Given the description of an element on the screen output the (x, y) to click on. 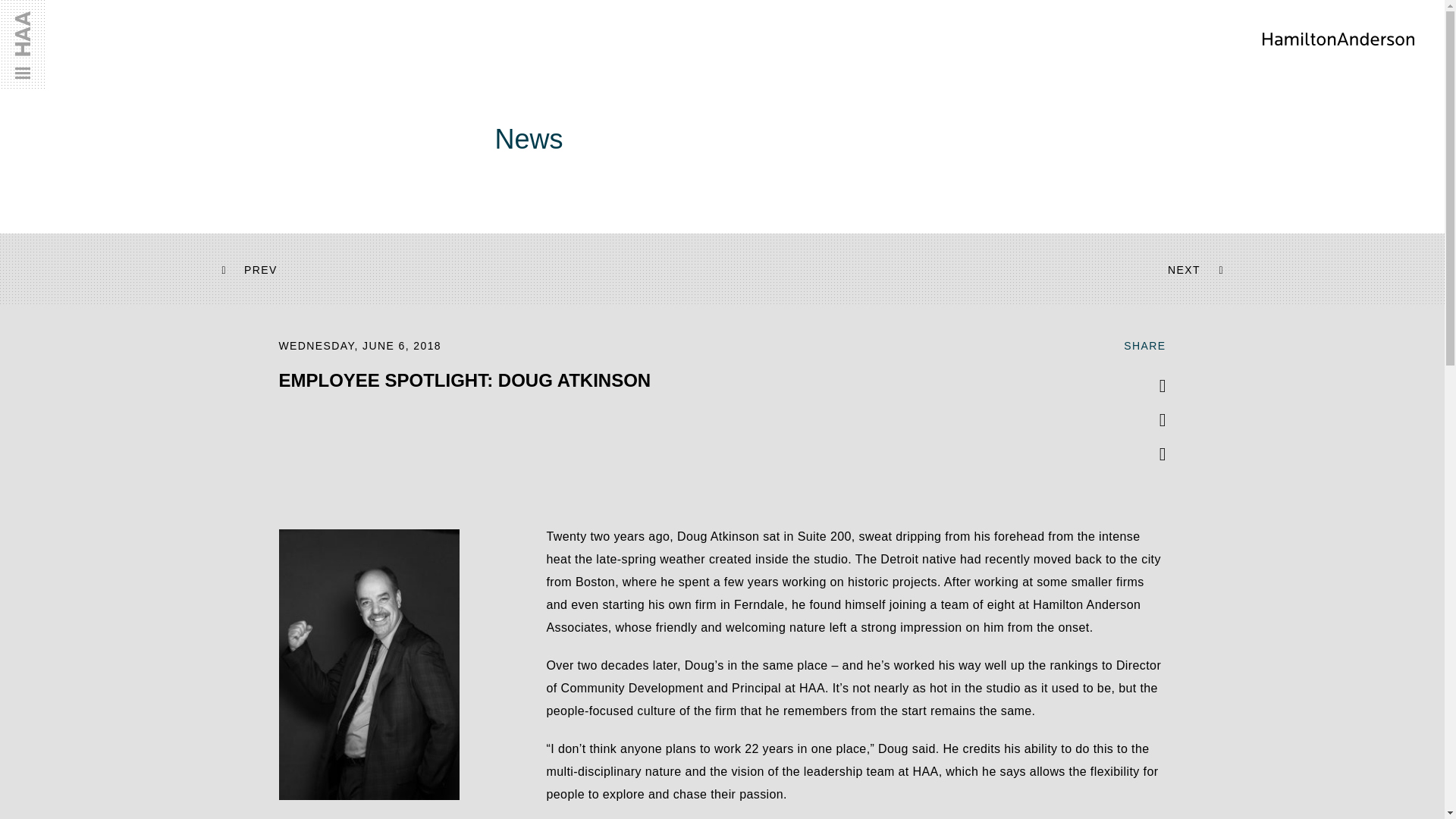
PREV (261, 269)
NEXT (1183, 269)
